Given the description of an element on the screen output the (x, y) to click on. 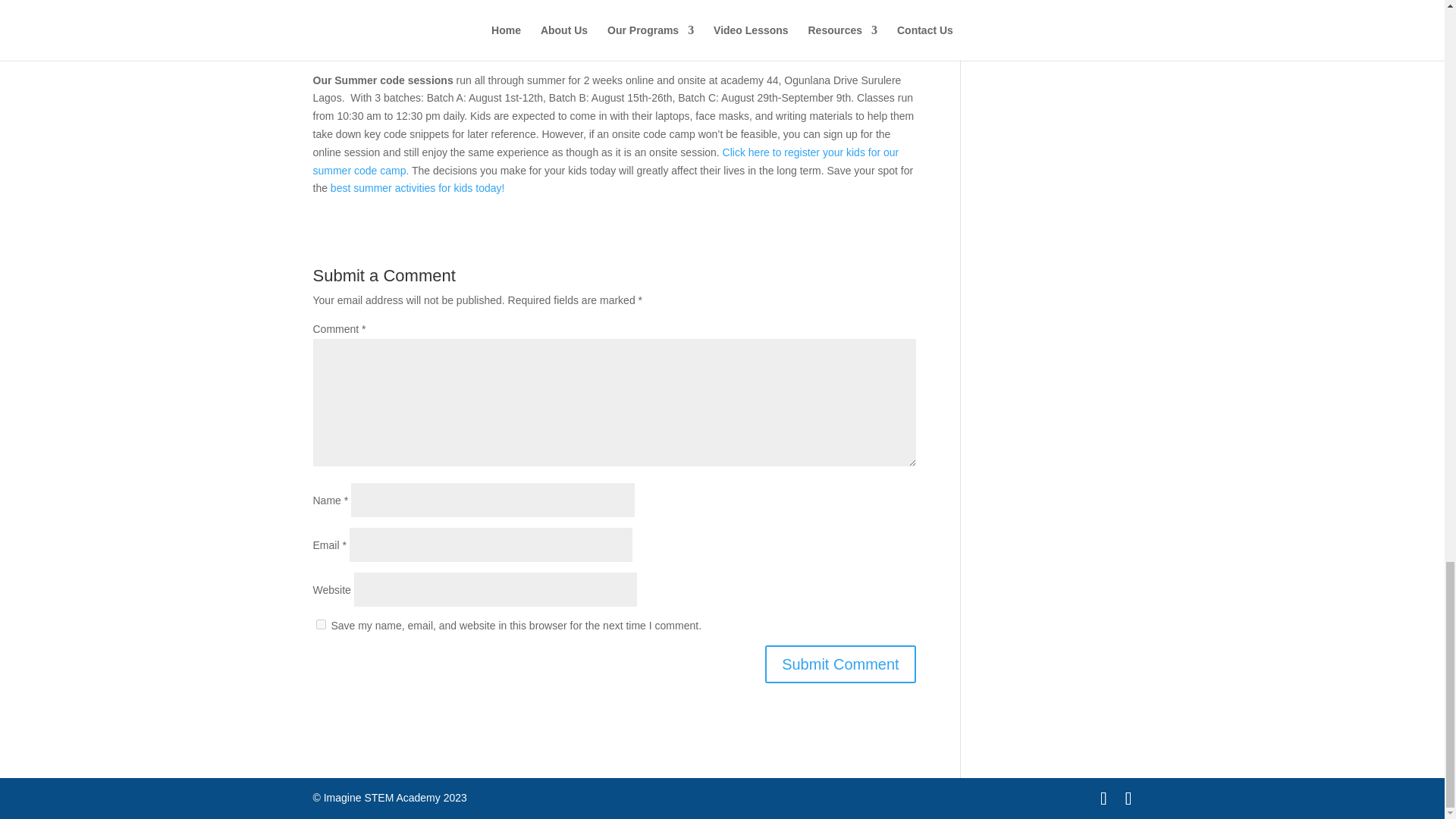
best summer activities for kids today! (417, 187)
Submit Comment (840, 664)
yes (319, 624)
Submit Comment (840, 664)
Click here to register your kids for our summer code camp. (605, 161)
